Given the description of an element on the screen output the (x, y) to click on. 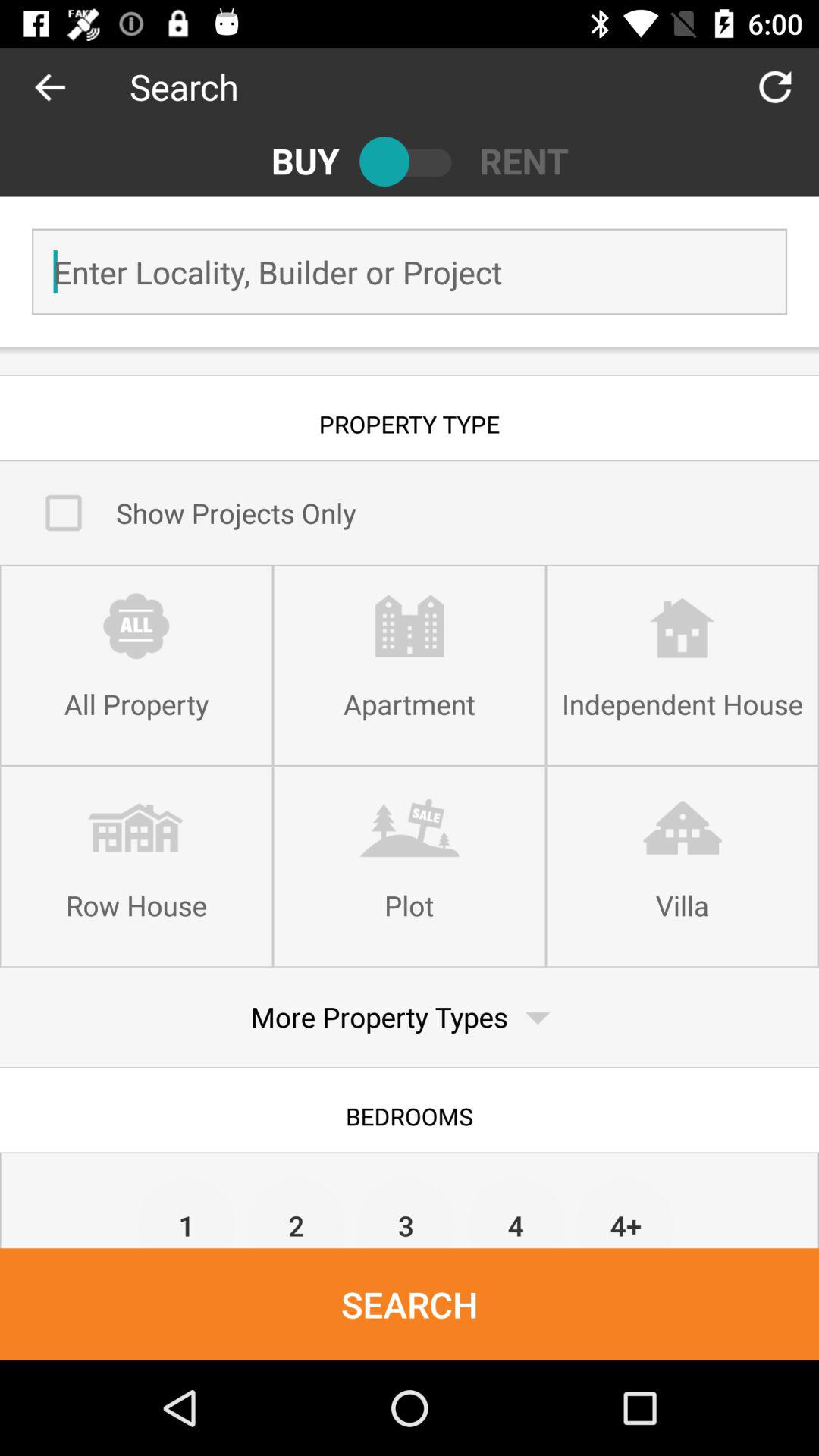
refresh option (775, 86)
